Given the description of an element on the screen output the (x, y) to click on. 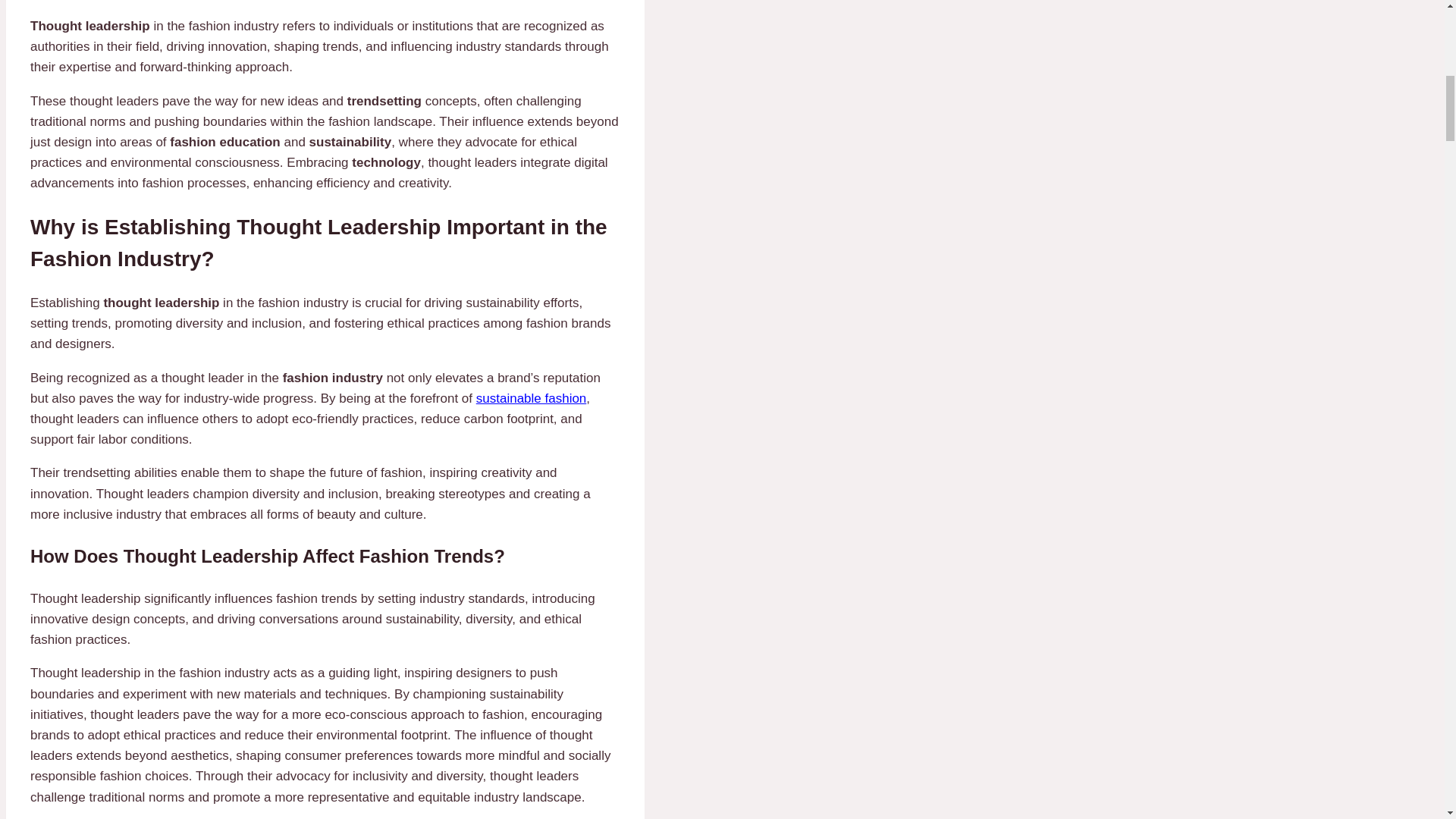
sustainable fashion (531, 398)
